Given the description of an element on the screen output the (x, y) to click on. 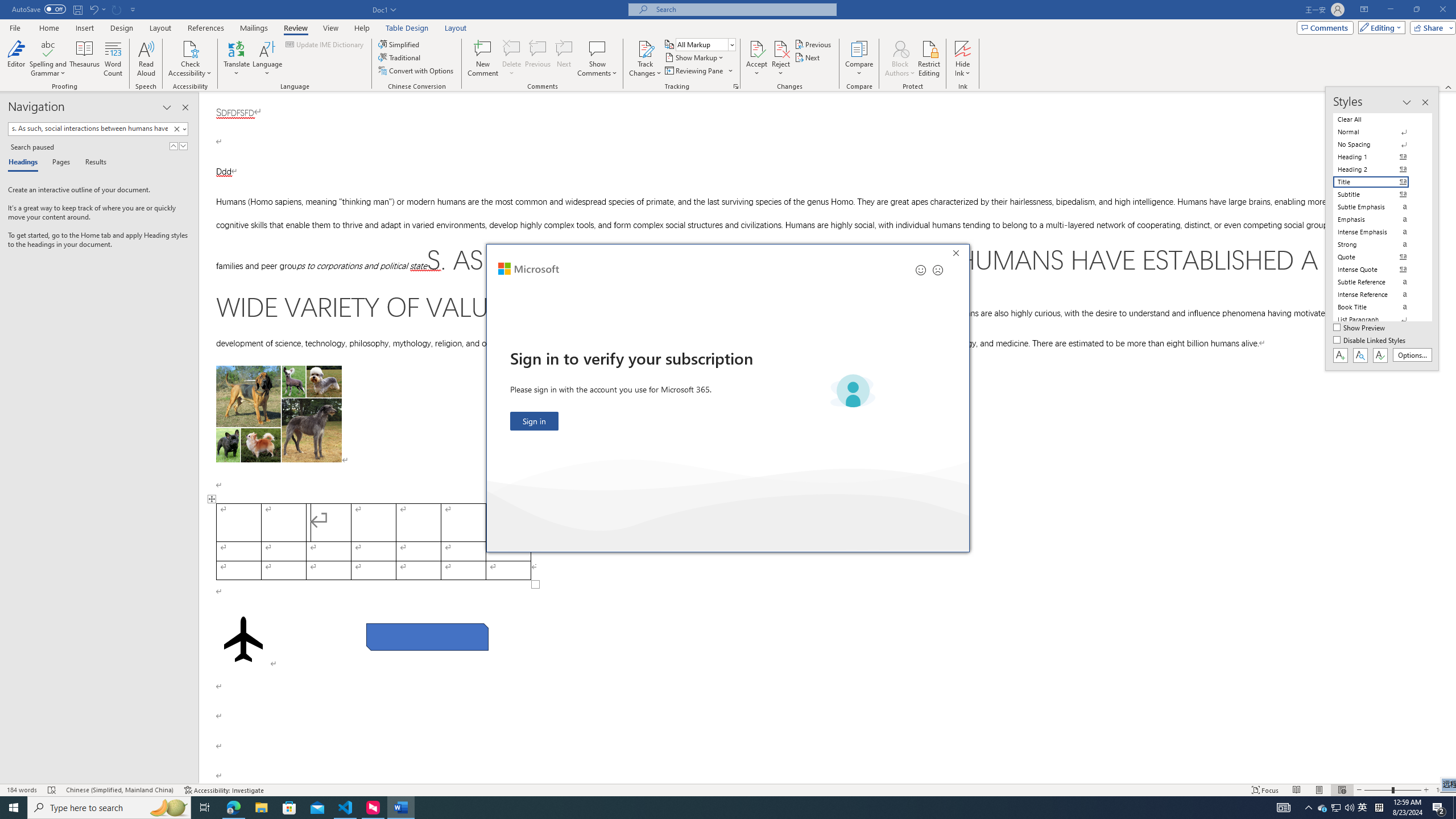
Traditional (400, 56)
Zoom 100% (1443, 790)
Running applications (700, 807)
Hide Ink (962, 58)
Can't Repeat (117, 9)
